Given the description of an element on the screen output the (x, y) to click on. 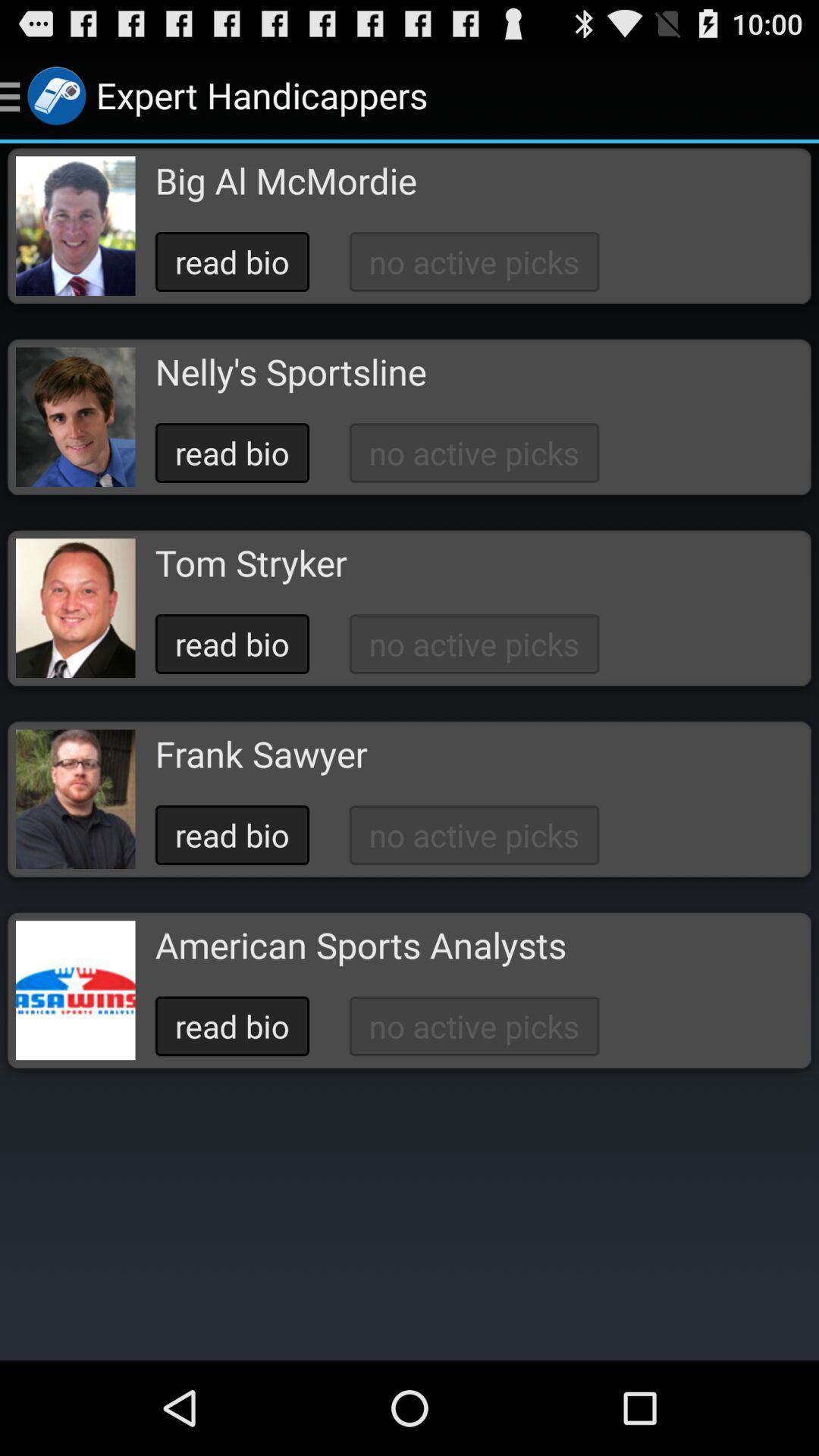
turn off the big al mcmordie item (285, 180)
